Given the description of an element on the screen output the (x, y) to click on. 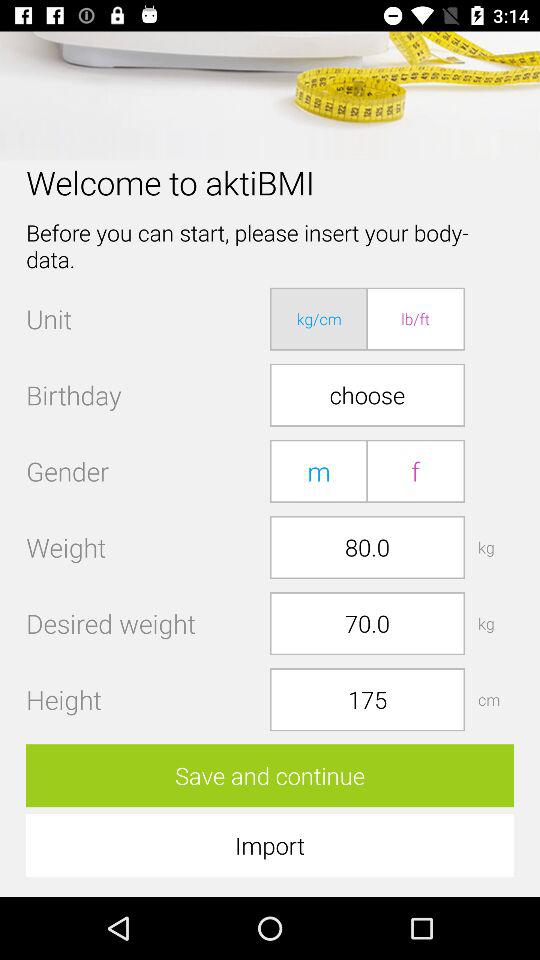
click the button above the m item (367, 394)
